Given the description of an element on the screen output the (x, y) to click on. 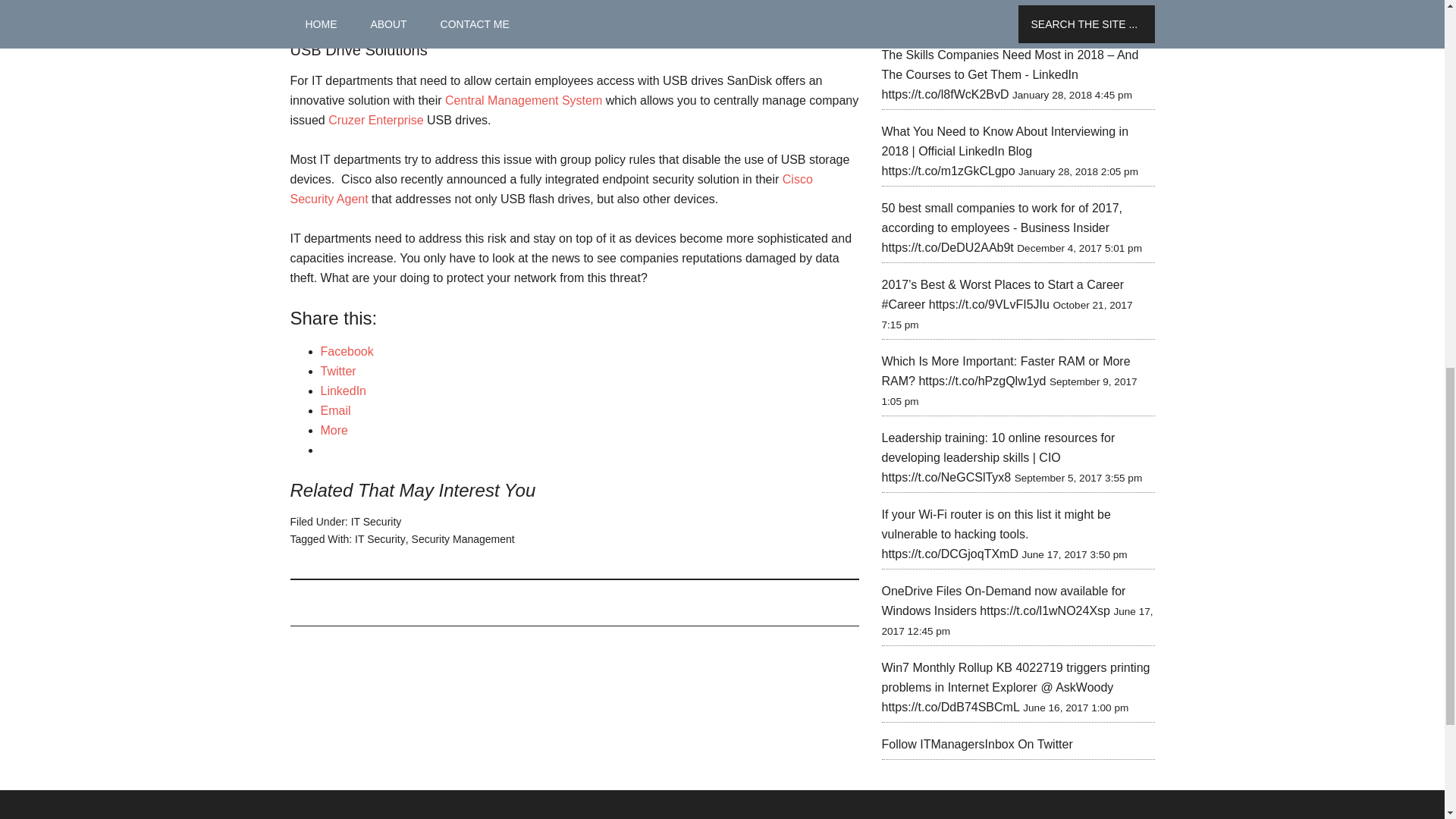
Facebook (346, 350)
Cisco Security Agent (550, 188)
IT Security (380, 539)
Email (335, 410)
Cruzer Enterprise (376, 119)
Central Management System (523, 100)
Cisco Security Agent (550, 188)
Click to share on LinkedIn (343, 390)
LinkedIn (343, 390)
IT Security (375, 521)
